Given the description of an element on the screen output the (x, y) to click on. 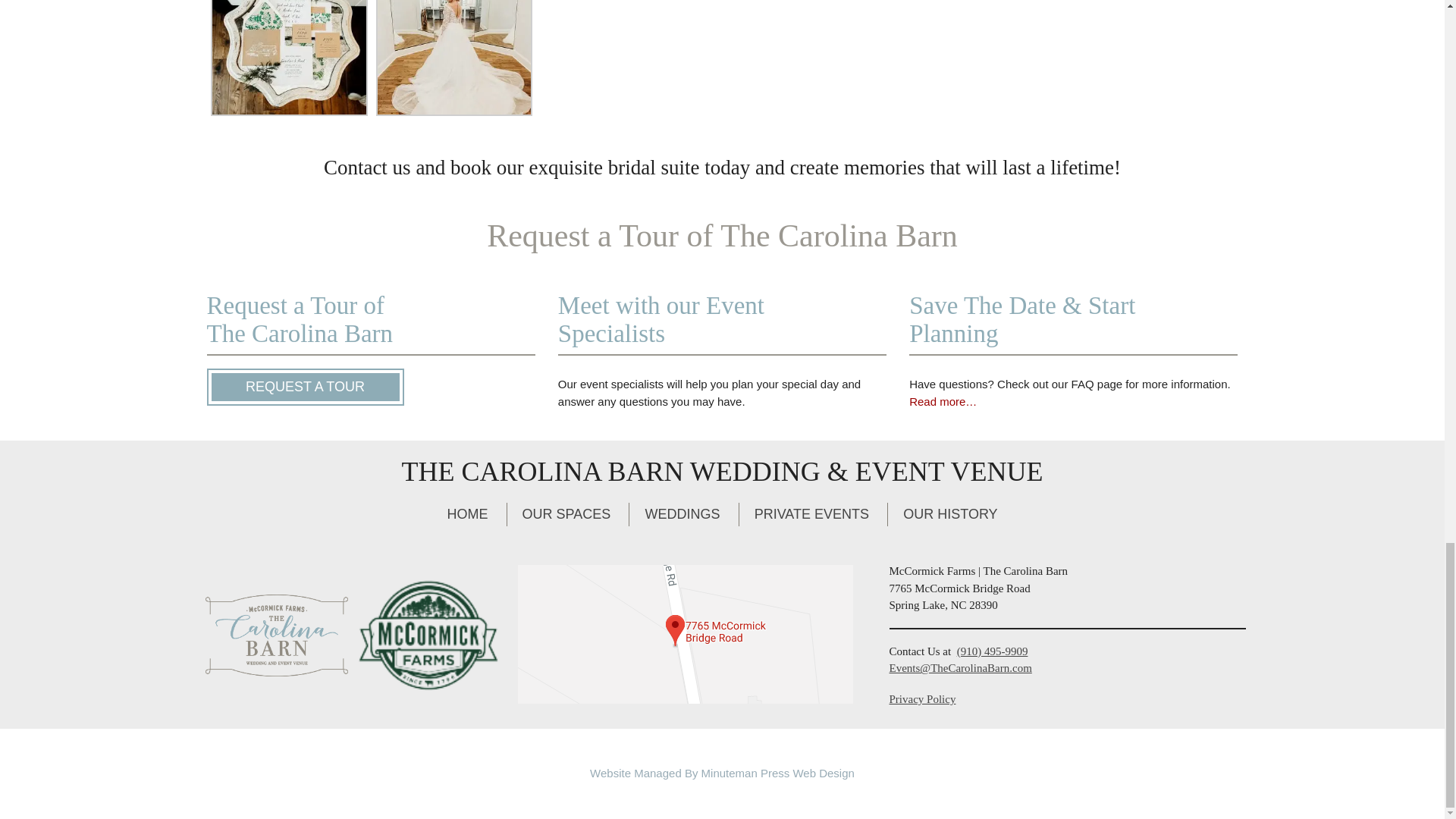
REQUEST A TOUR (304, 387)
WEDDINGS (681, 514)
OUR SPACES (566, 514)
HOME (466, 514)
PRIVATE EVENTS (811, 514)
